Given the description of an element on the screen output the (x, y) to click on. 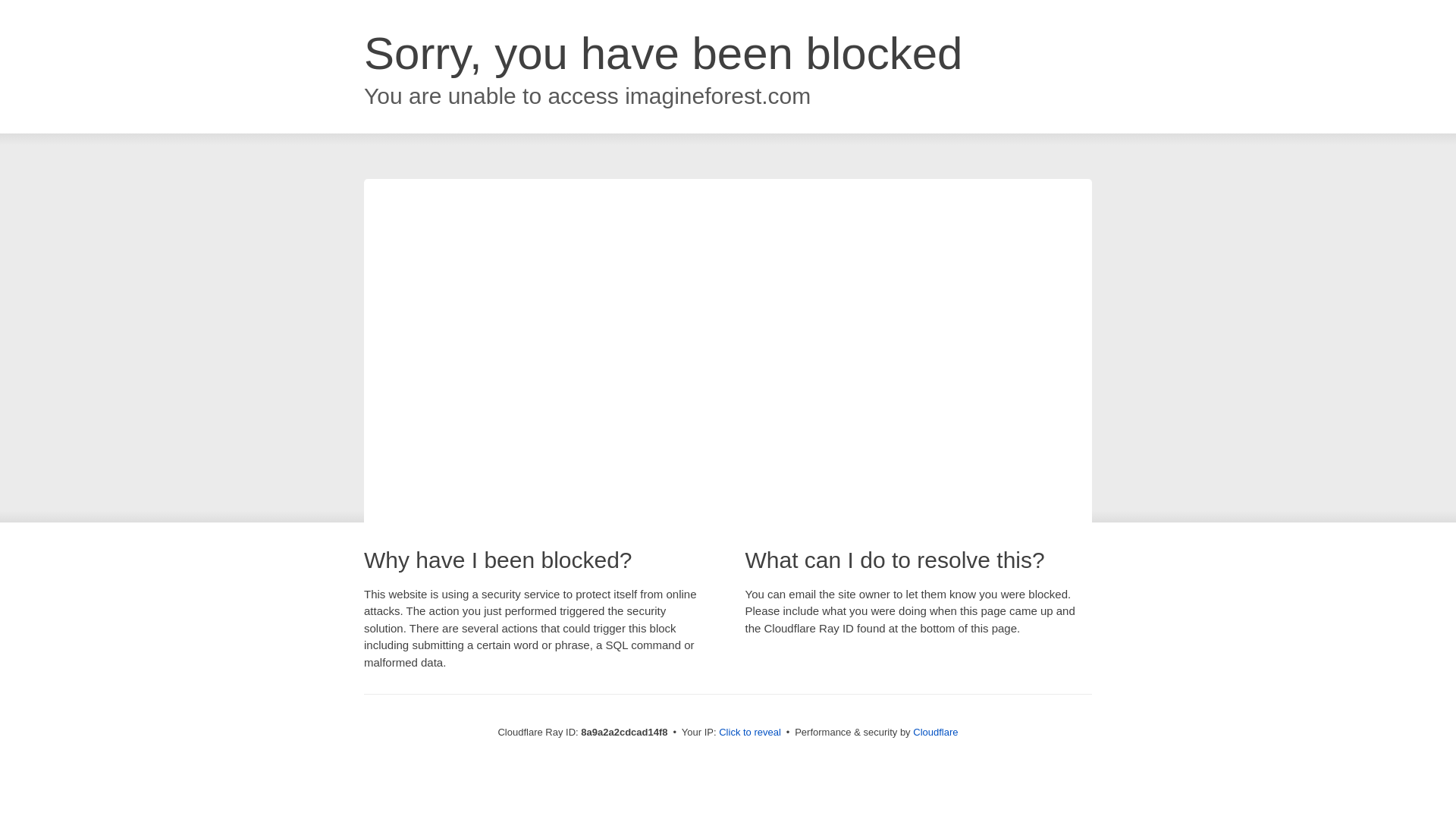
Cloudflare (935, 731)
Click to reveal (749, 732)
